Given the description of an element on the screen output the (x, y) to click on. 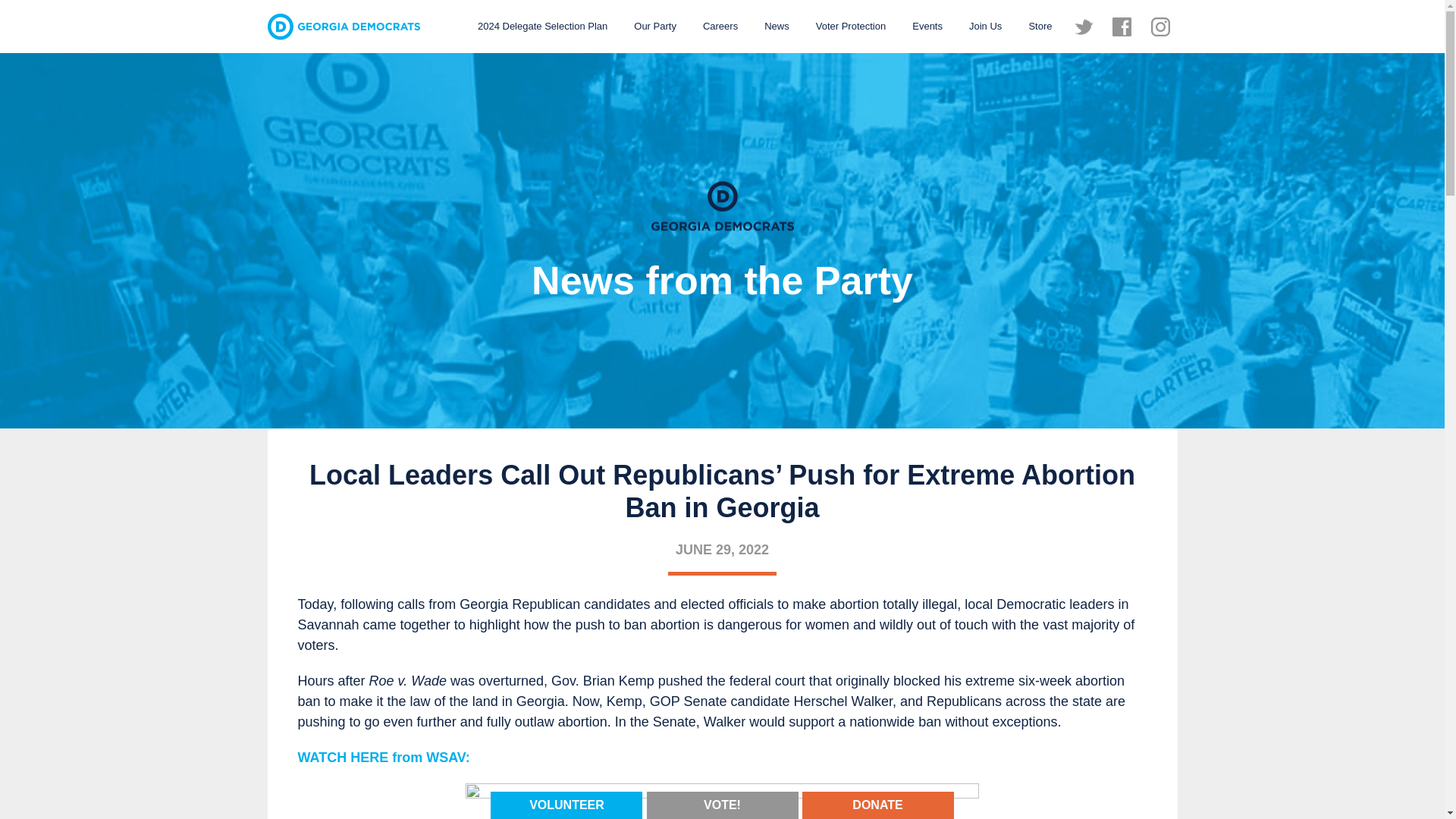
VOTE! (721, 805)
DEMOCRATIC PARTY OF GEORGIA (342, 26)
Store (1039, 25)
2024 Delegate Selection Plan (541, 25)
Events (927, 25)
Our Party (655, 25)
WATCH HERE from WSAV: (382, 757)
DONATE (877, 805)
VOTE! (721, 804)
Join Us (985, 25)
